Given the description of an element on the screen output the (x, y) to click on. 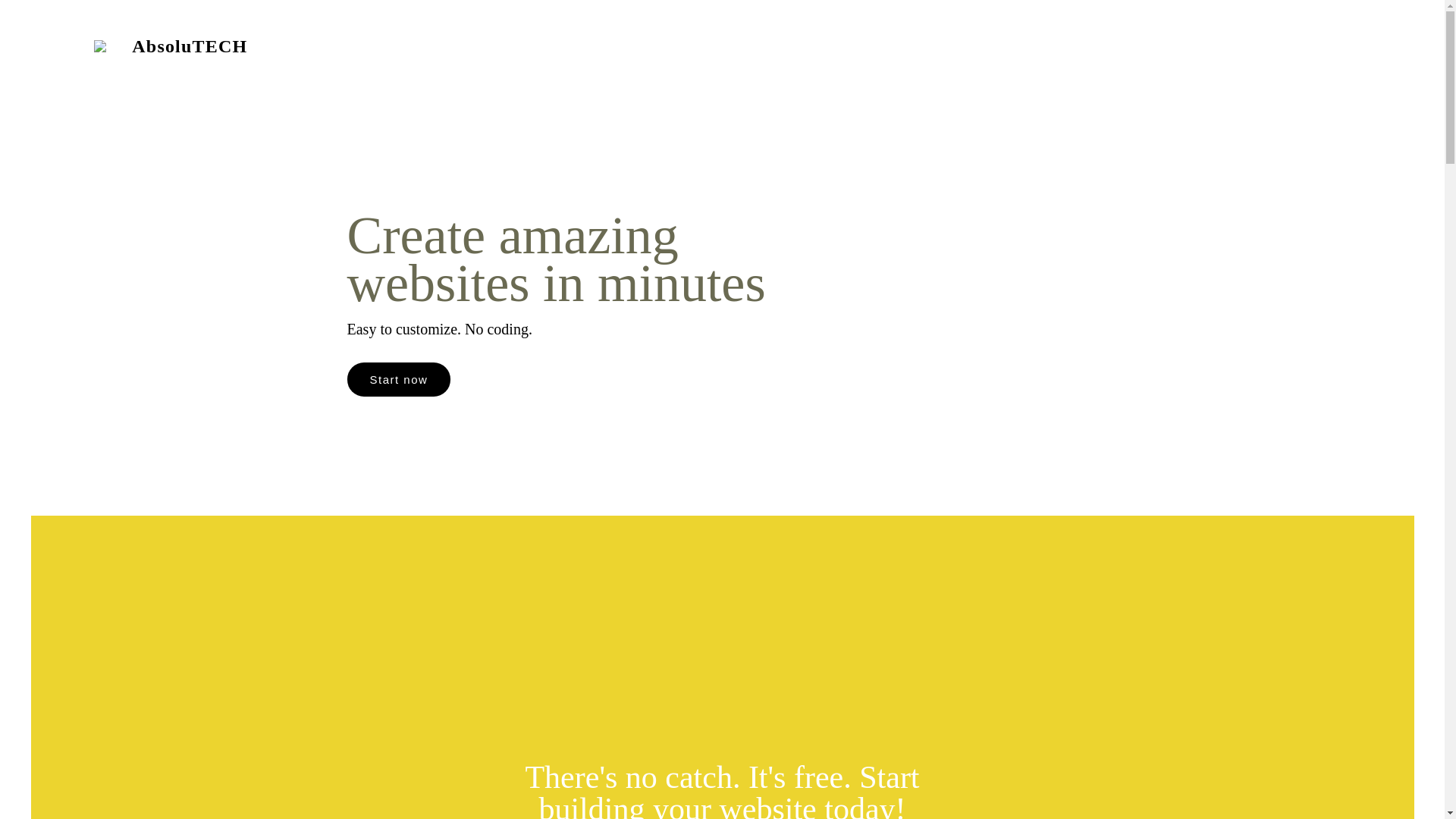
AbsoluTECH Element type: text (185, 48)
